Given the description of an element on the screen output the (x, y) to click on. 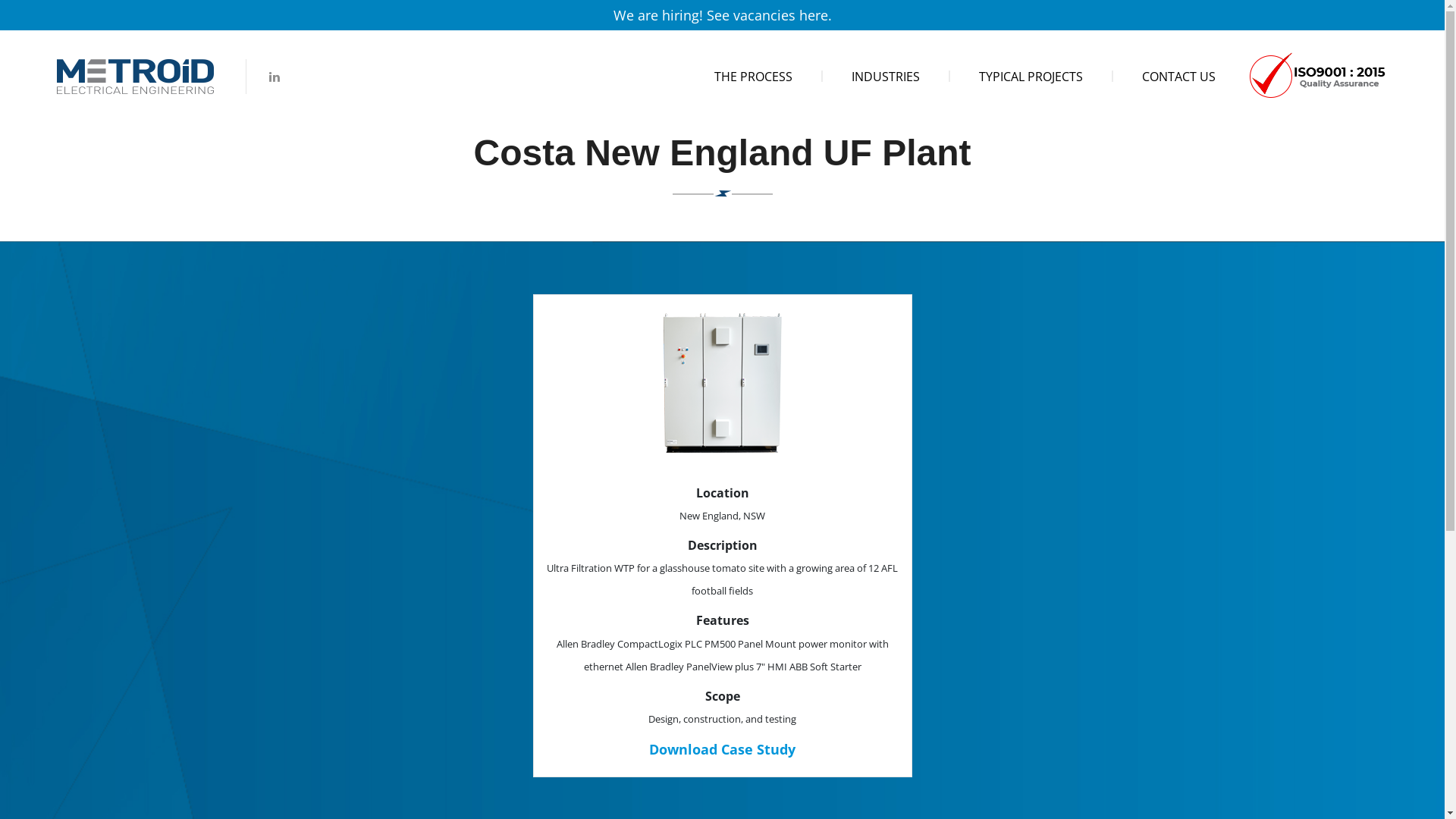
CONTACT US Element type: text (1178, 76)
Download Case Study Element type: text (722, 749)
THE PROCESS Element type: text (753, 76)
TYPICAL PROJECTS Element type: text (1030, 76)
See vacancies here. Element type: text (768, 15)
INDUSTRIES Element type: text (885, 76)
